Given the description of an element on the screen output the (x, y) to click on. 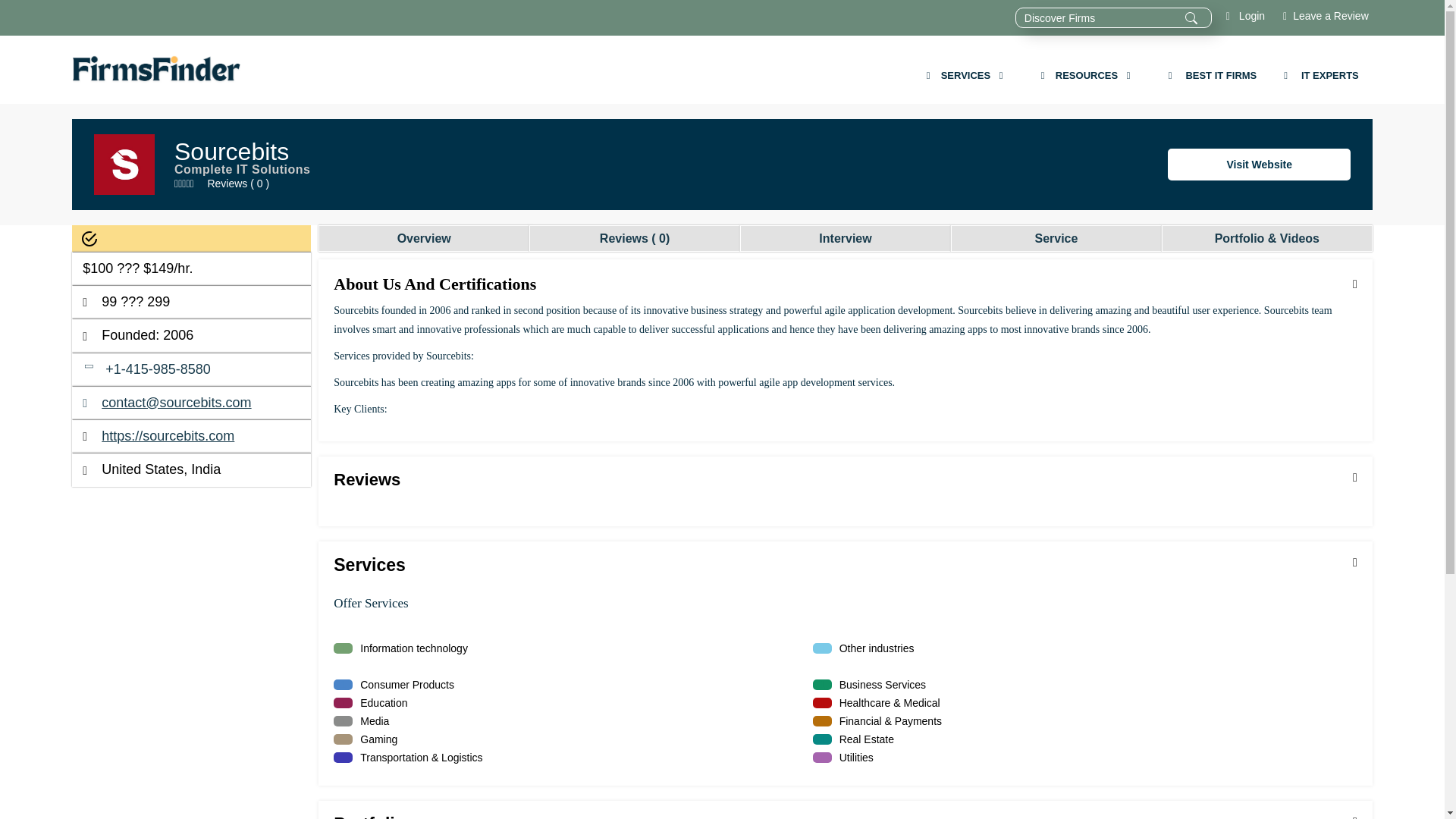
RESOURCES (1087, 75)
Login (1239, 15)
Leave a Review (1320, 15)
Search (1191, 17)
Sourcebits (1259, 164)
SERVICES (967, 75)
FirmsFinder (156, 69)
